Given the description of an element on the screen output the (x, y) to click on. 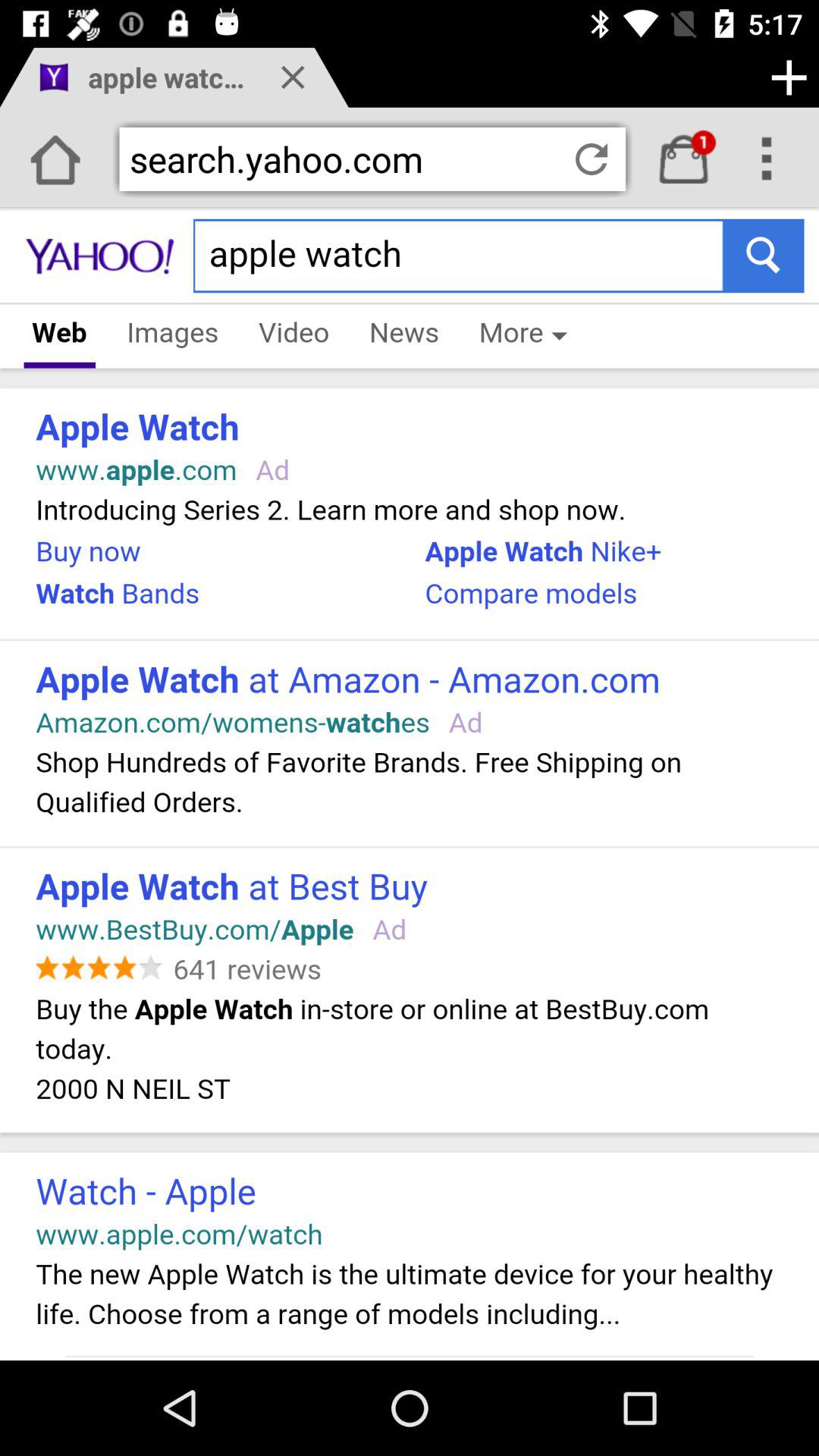
add button (789, 77)
